Given the description of an element on the screen output the (x, y) to click on. 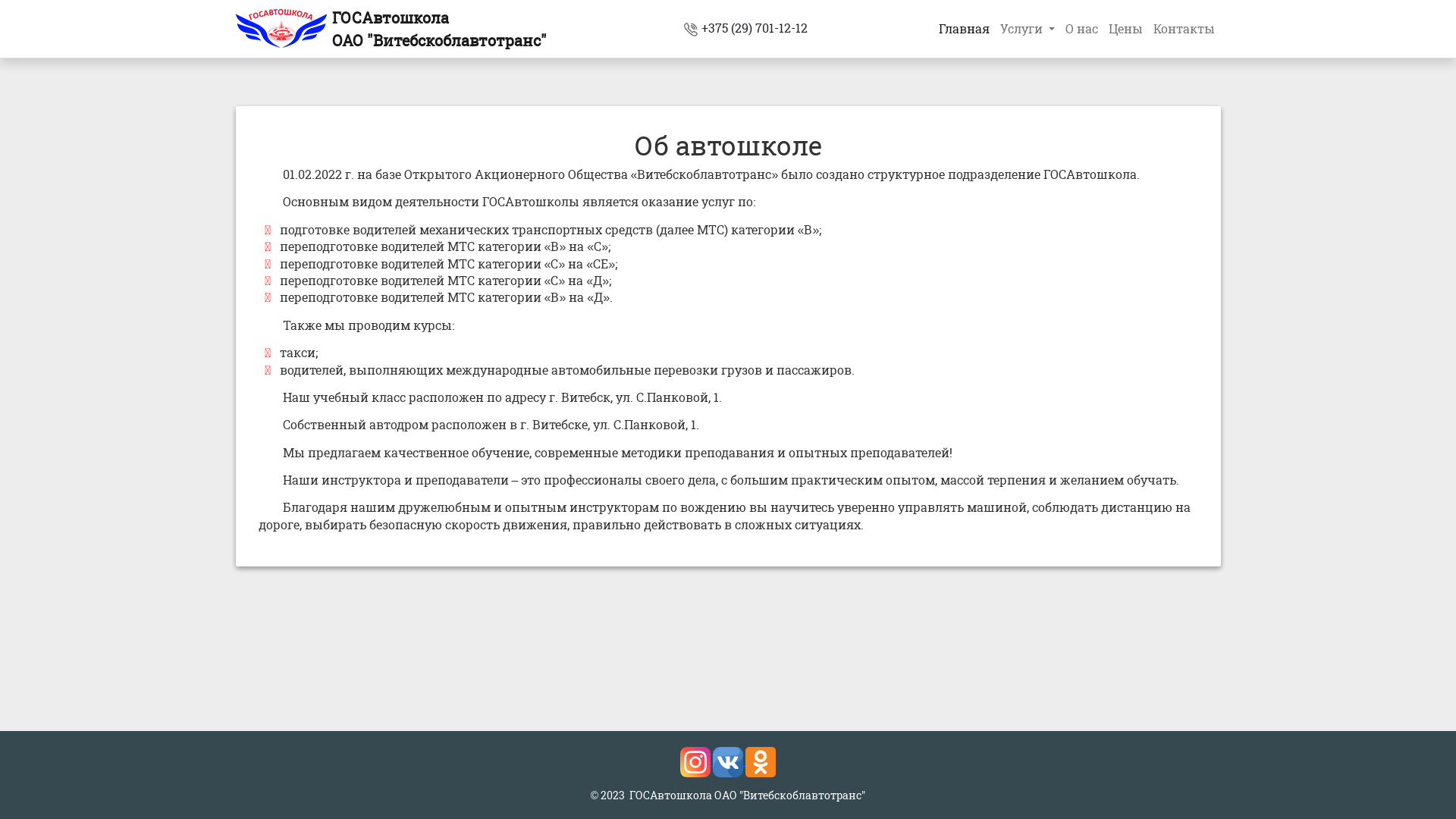
+375 (29) 701-12-12 Element type: text (754, 27)
